Given the description of an element on the screen output the (x, y) to click on. 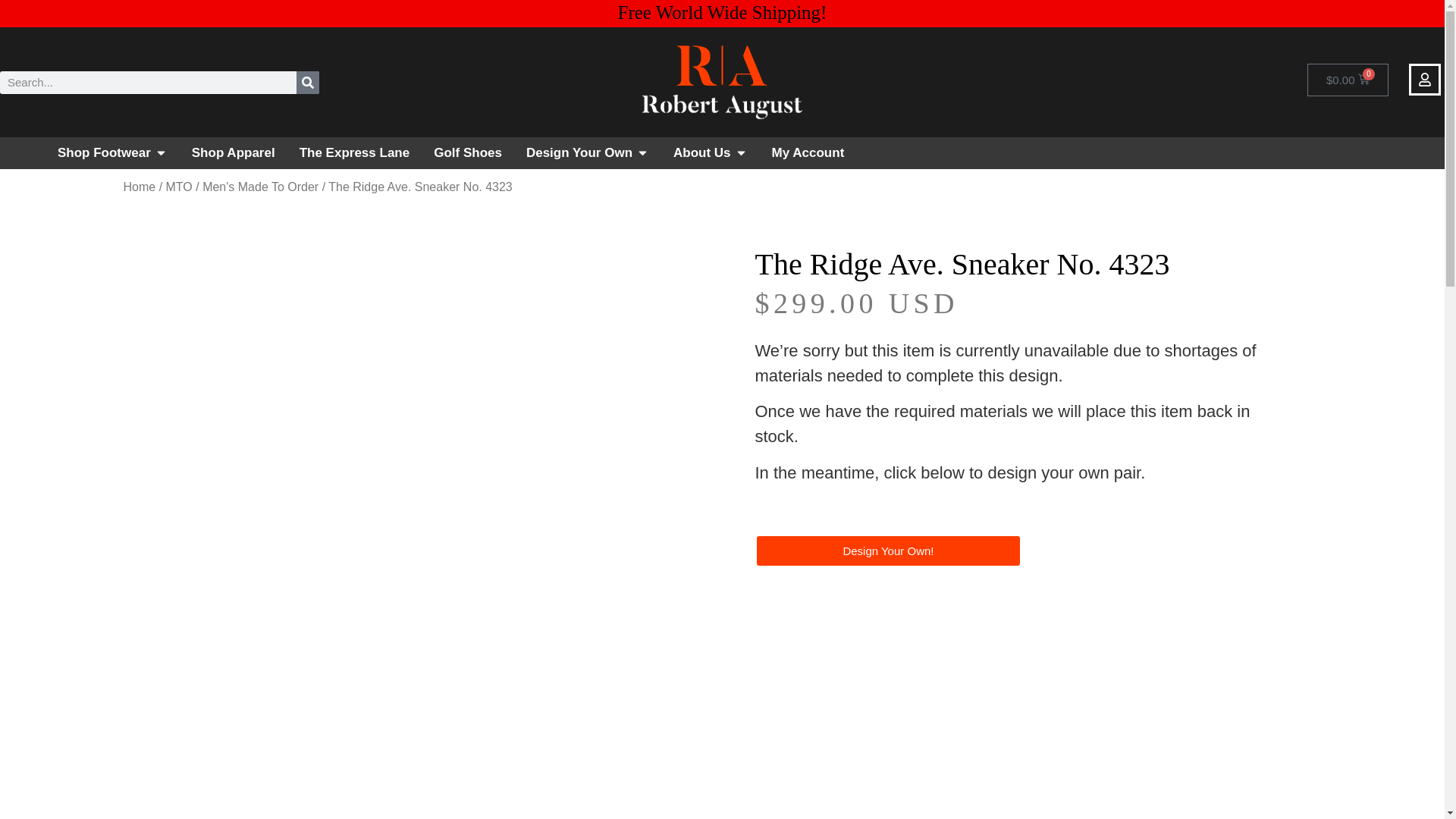
Logo PNG (721, 82)
